Given the description of an element on the screen output the (x, y) to click on. 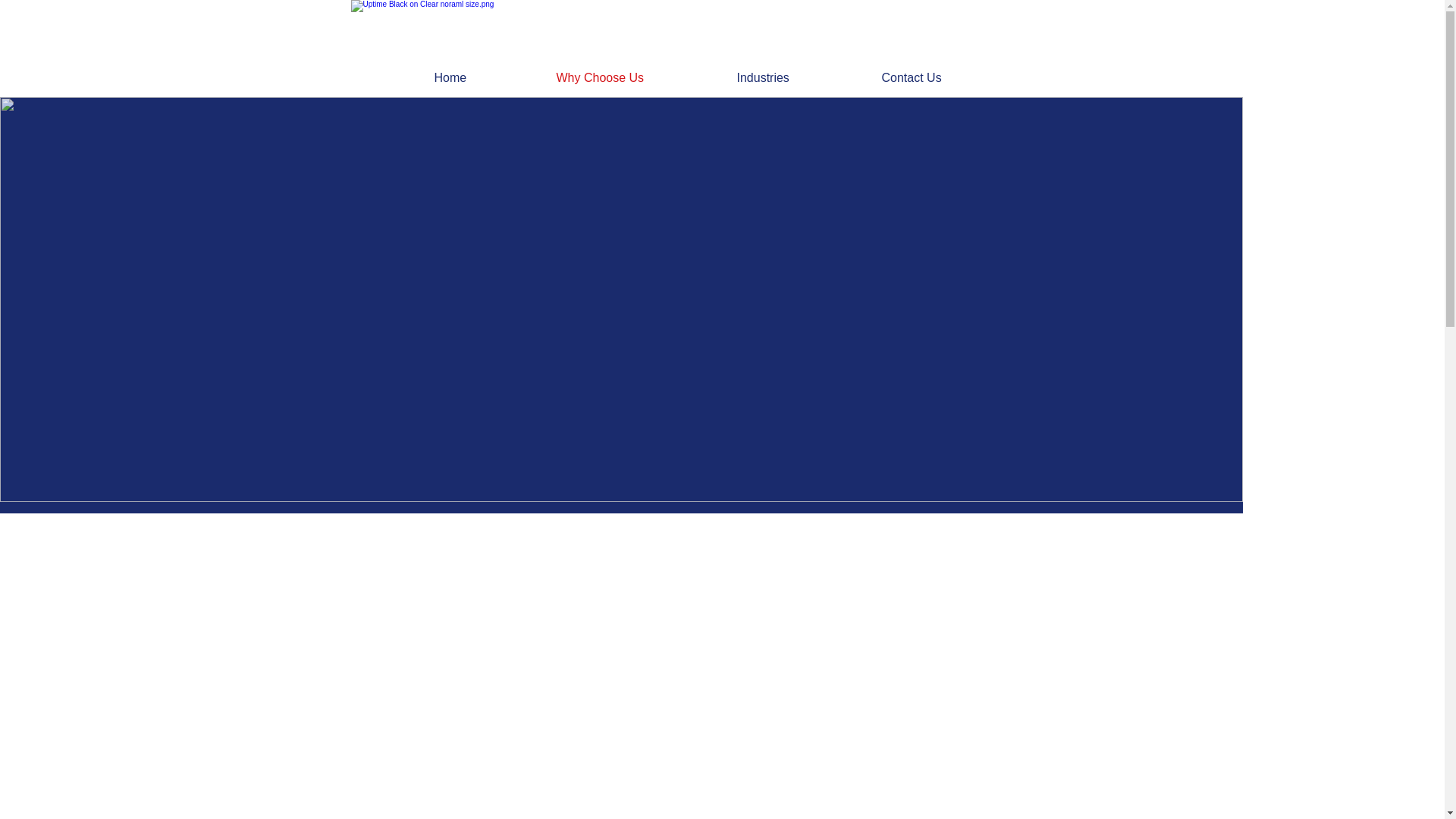
Industries (797, 77)
Contact Us (946, 77)
Why Choose Us (634, 77)
Home (483, 77)
